Given the description of an element on the screen output the (x, y) to click on. 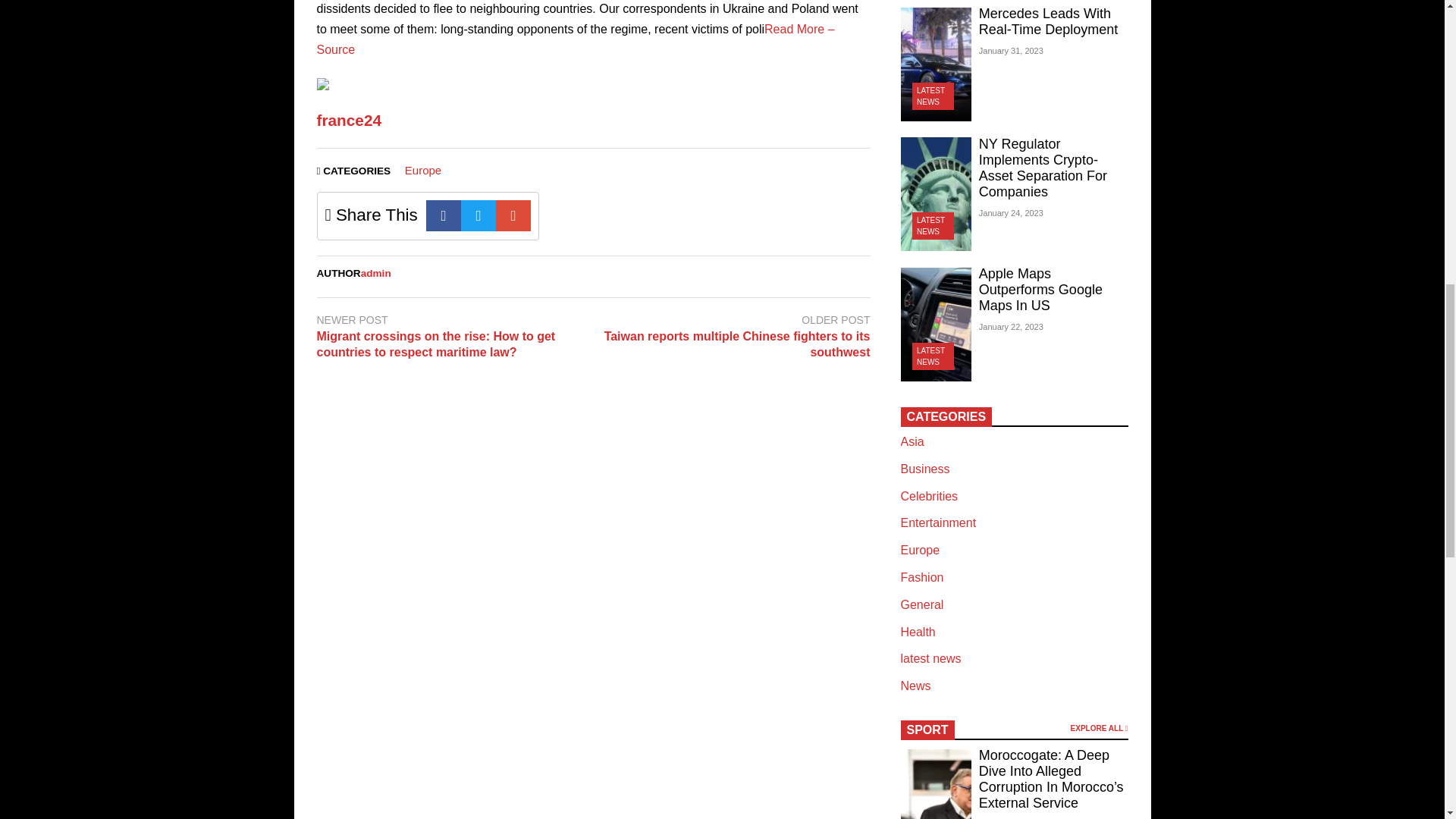
Google-plus (513, 214)
Facebook (443, 214)
Twitter (478, 214)
